Given the description of an element on the screen output the (x, y) to click on. 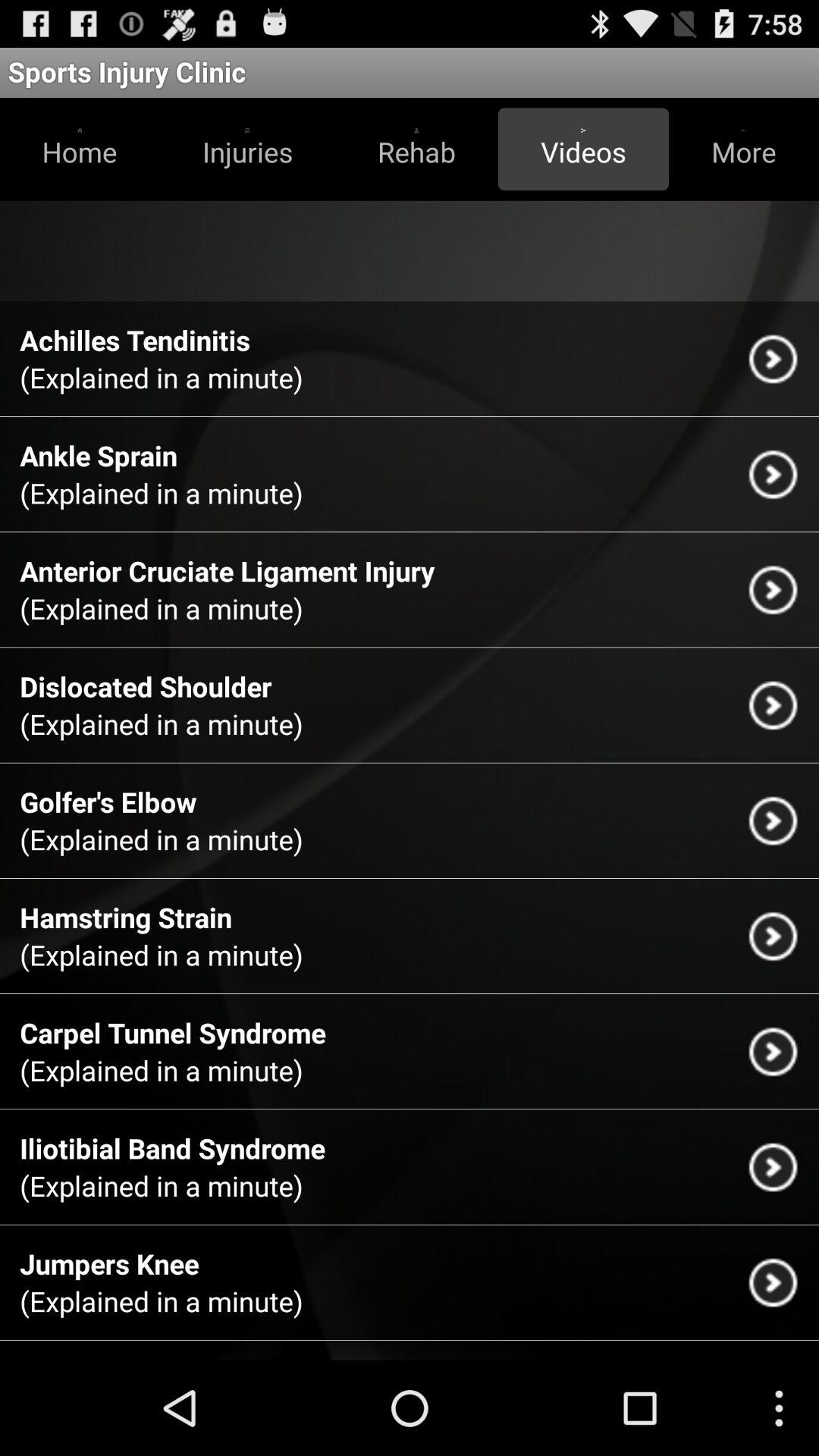
swipe to the achilles tendinitis icon (134, 339)
